Given the description of an element on the screen output the (x, y) to click on. 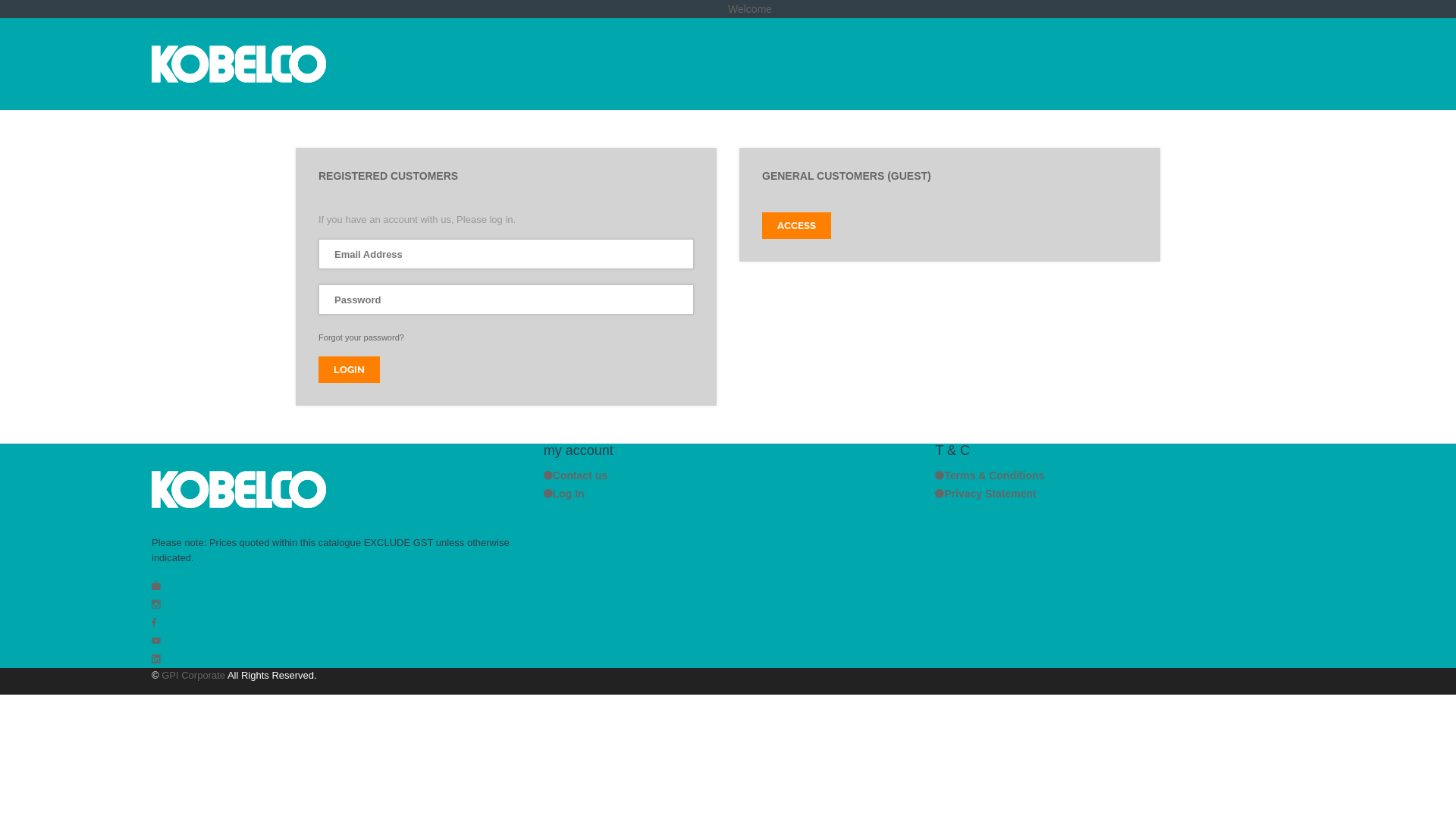
Instagram Element type: hover (155, 604)
youtube Element type: hover (155, 640)
GPI Corporate Element type: text (193, 674)
Privacy Statement Element type: text (985, 493)
Log In Element type: text (563, 493)
ACCESS Element type: text (796, 225)
linkedin Element type: hover (155, 658)
Forgot your password? Element type: text (361, 337)
Web site Element type: hover (155, 586)
Contact us Element type: text (575, 475)
Facebook Element type: hover (153, 622)
LOGIN Element type: text (348, 369)
Terms & Conditions Element type: text (989, 475)
